Given the description of an element on the screen output the (x, y) to click on. 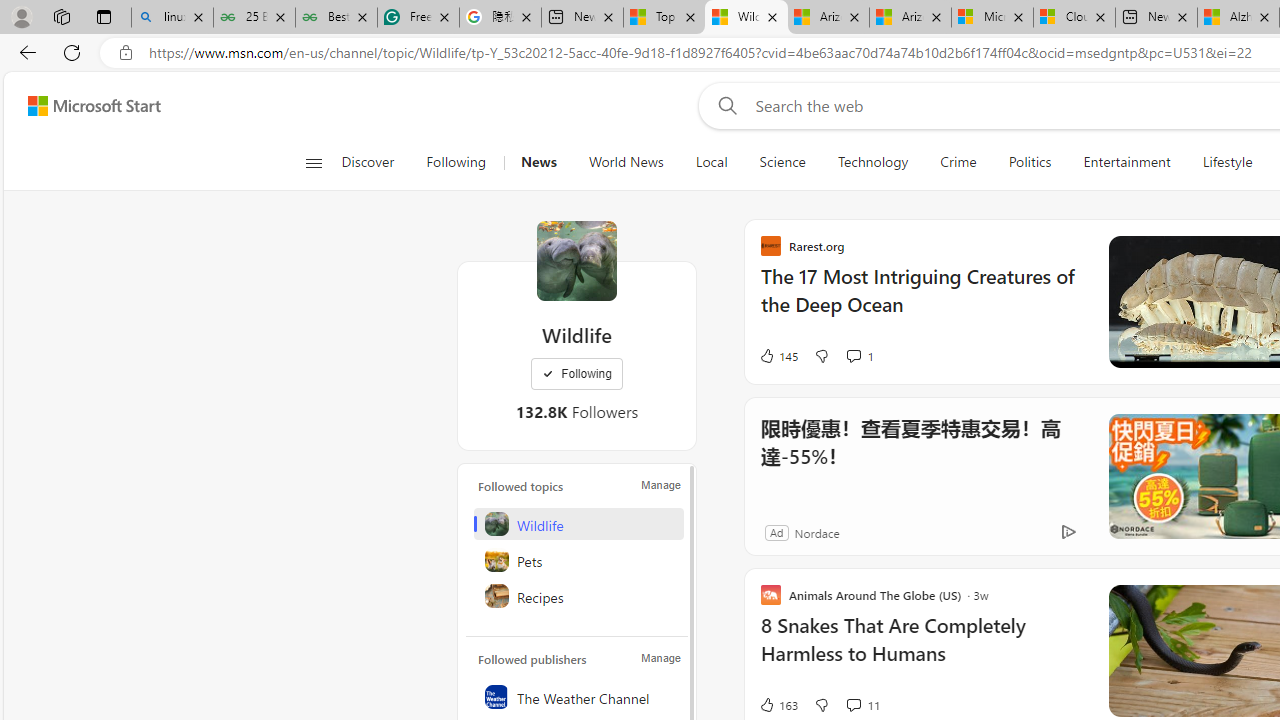
Best SSL Certificates Provider in India - GeeksforGeeks (336, 17)
linux basic - Search (171, 17)
8 Snakes That Are Completely Harmless to Humans (922, 650)
145 Like (778, 355)
